Given the description of an element on the screen output the (x, y) to click on. 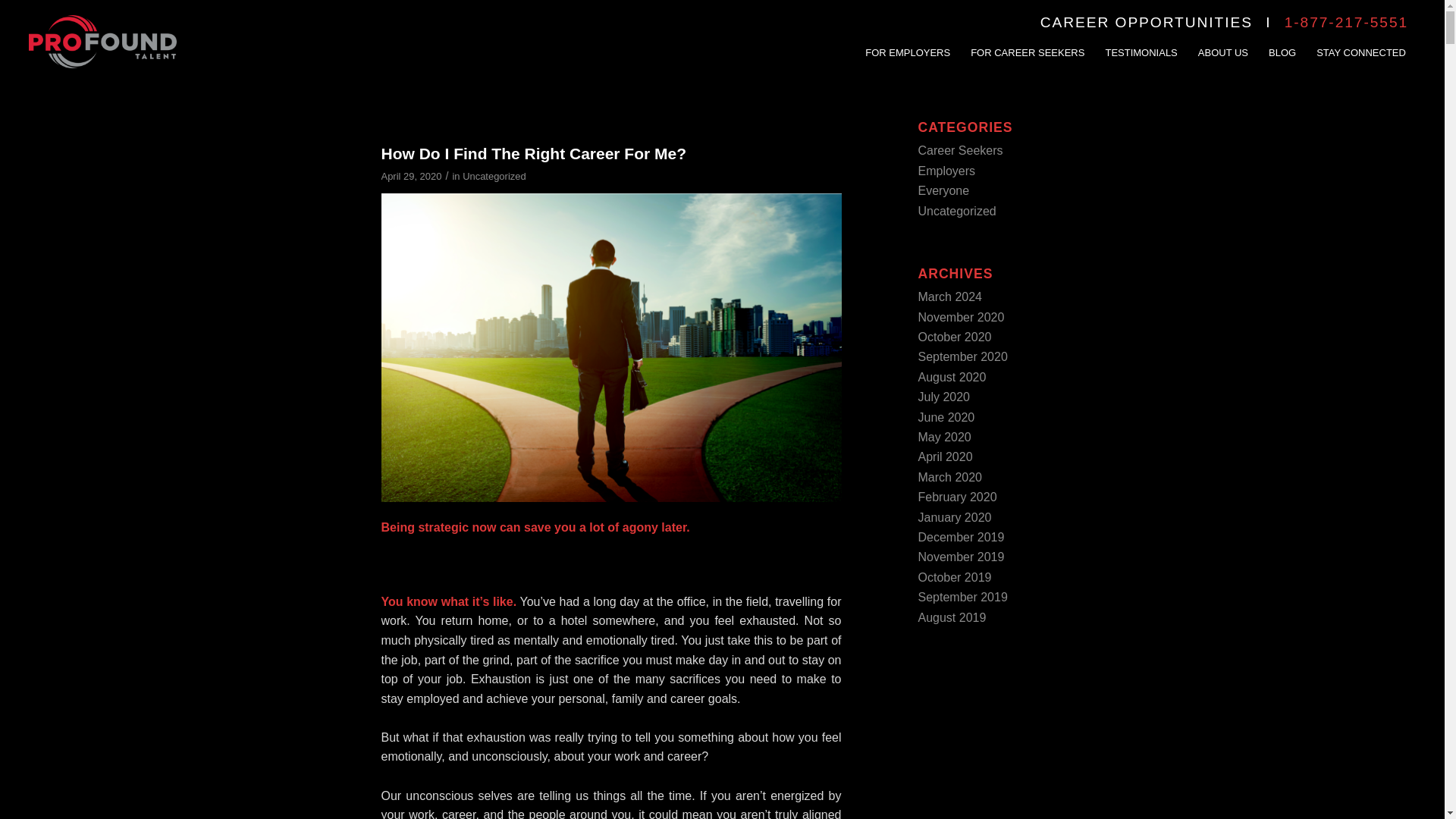
ABOUT US (1222, 41)
STAY CONNECTED (1360, 41)
FOR EMPLOYERS (907, 41)
Uncategorized (494, 175)
How Do I Find The Right Career For Me? (532, 153)
1-877-217-5551 (1345, 22)
ProFound Talent (102, 41)
TESTIMONIALS (1140, 41)
CAREER OPPORTUNITIES (1146, 22)
FOR CAREER SEEKERS (1026, 41)
Permanent Link: How Do I Find The Right Career For Me? (532, 153)
